Given the description of an element on the screen output the (x, y) to click on. 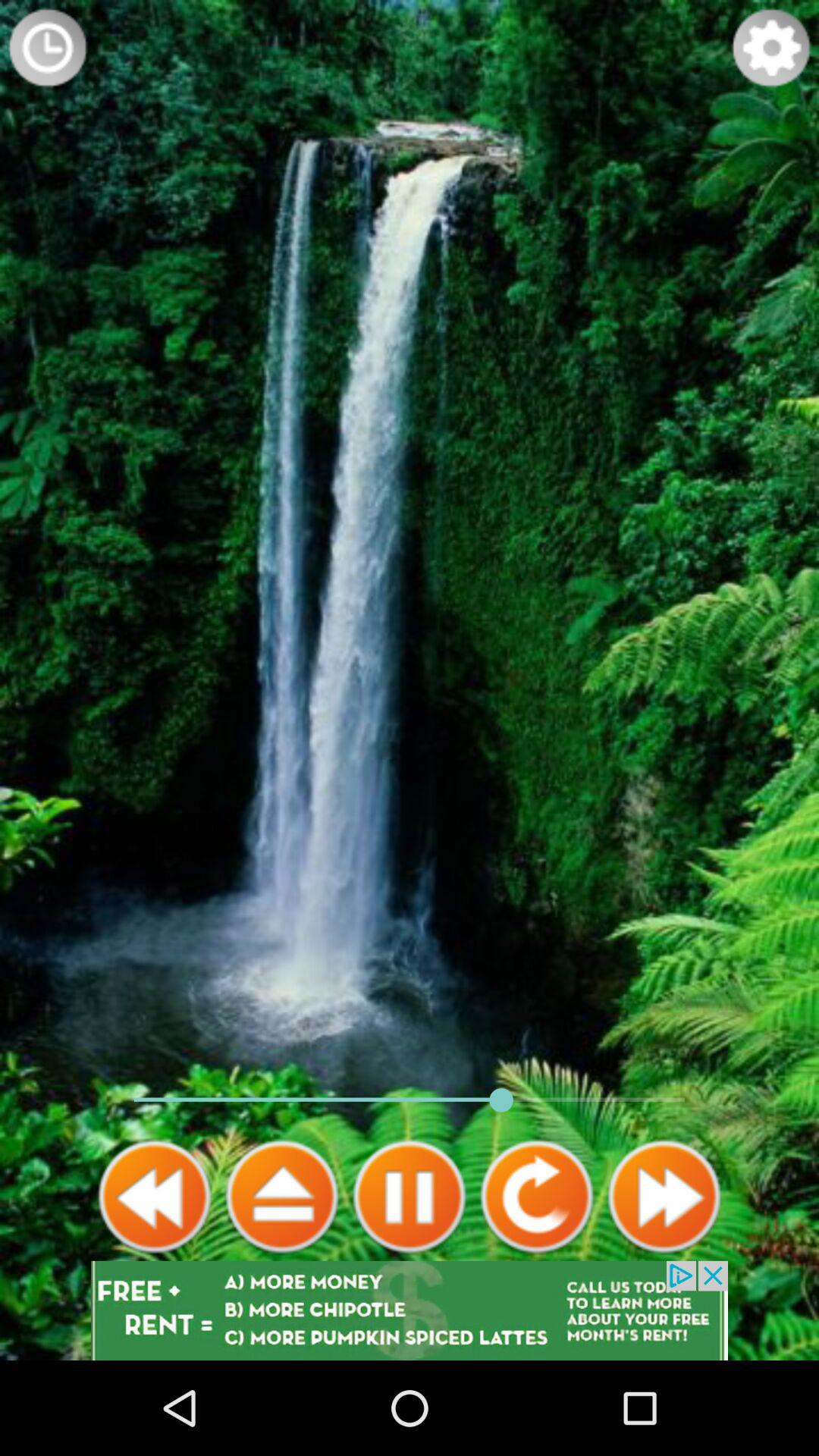
go back undo option (536, 1196)
